Given the description of an element on the screen output the (x, y) to click on. 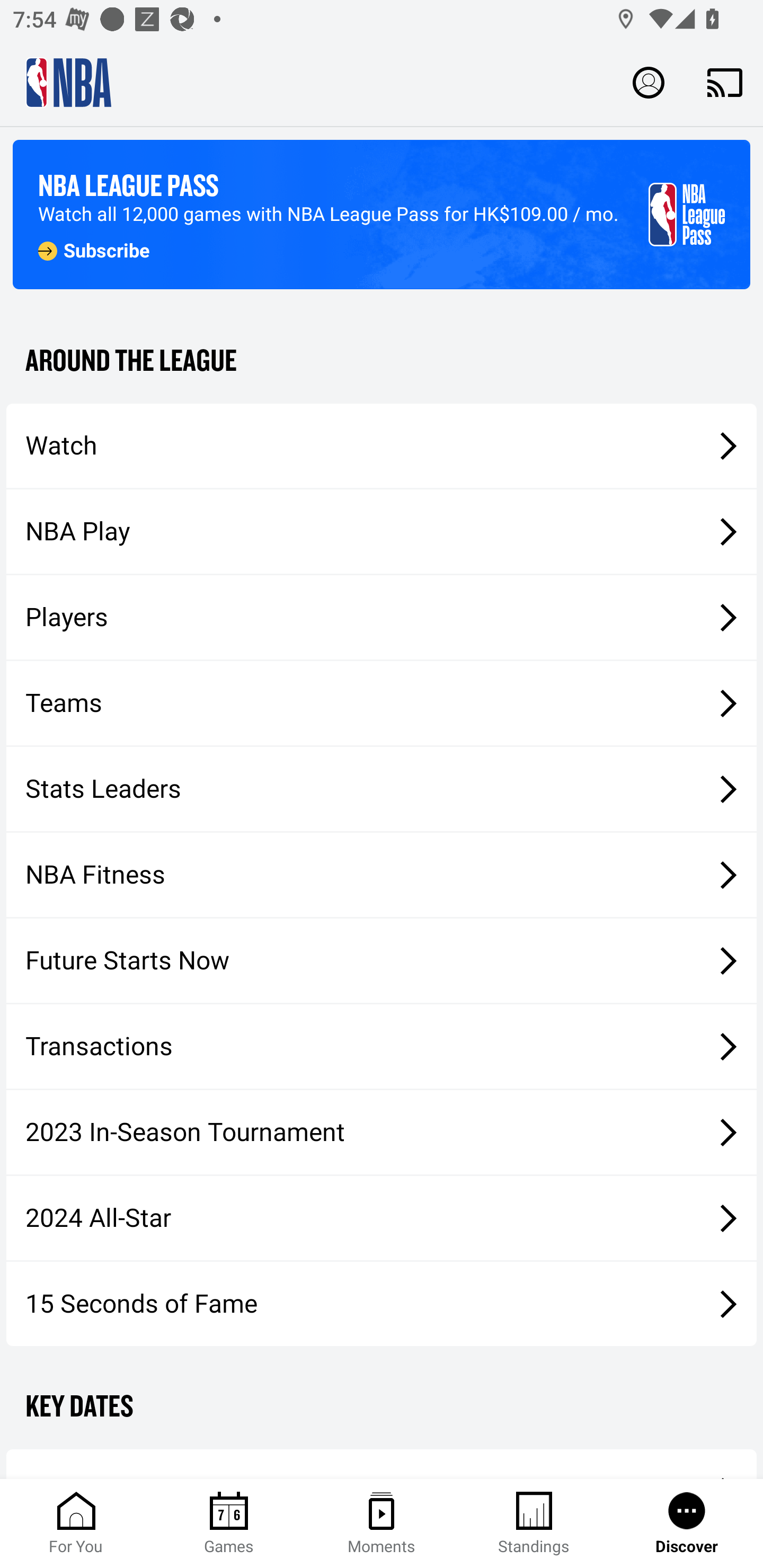
Cast. Disconnected (724, 82)
Profile (648, 81)
Watch (381, 444)
NBA Play (381, 531)
Players (381, 617)
Teams (381, 702)
Stats Leaders (381, 788)
NBA Fitness (381, 874)
Future Starts Now (381, 960)
Transactions (381, 1046)
2023 In-Season Tournament (381, 1131)
2024 All-Star (381, 1218)
15 Seconds of Fame (381, 1303)
For You (76, 1523)
Games (228, 1523)
Moments (381, 1523)
Standings (533, 1523)
